Given the description of an element on the screen output the (x, y) to click on. 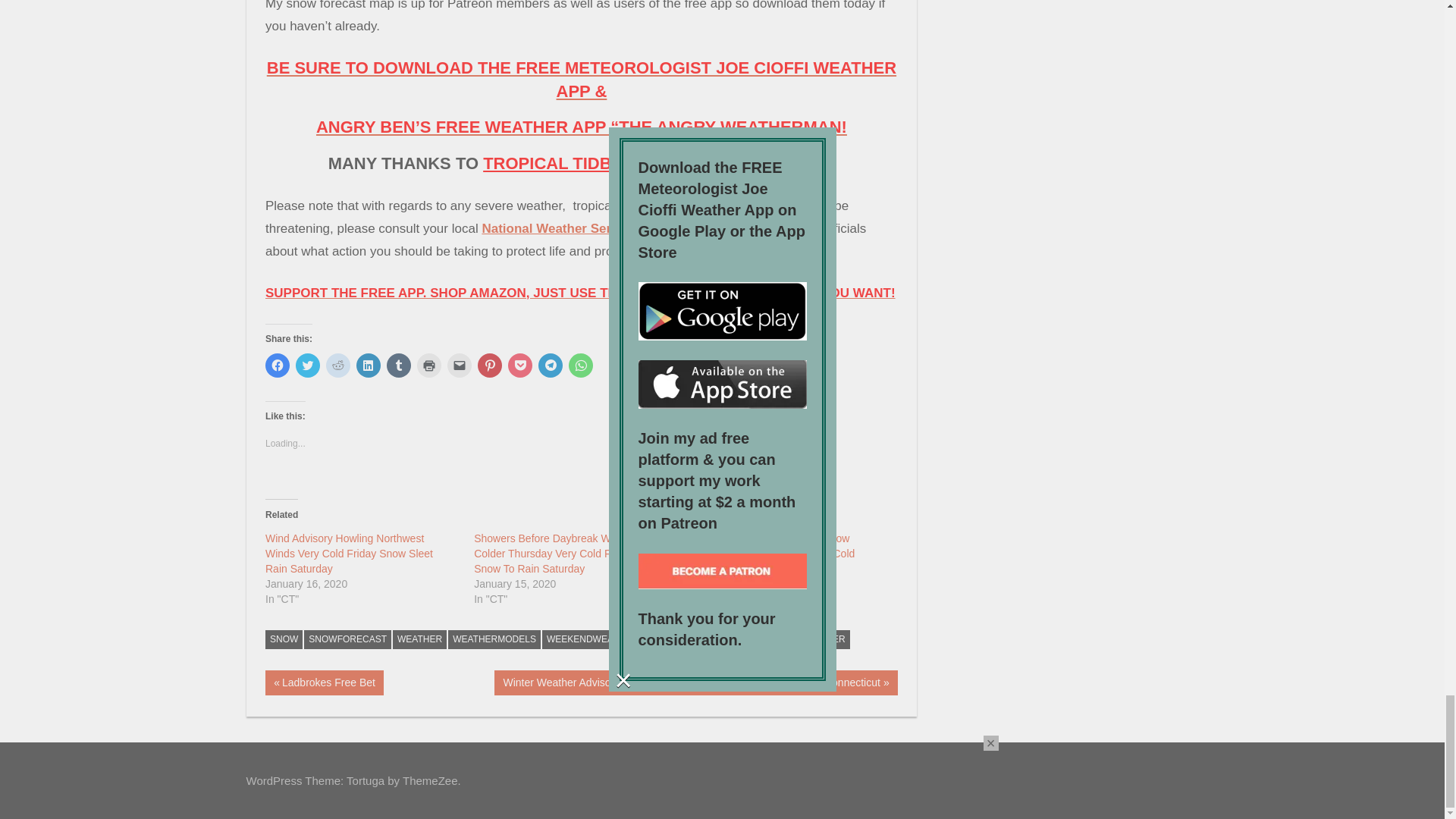
Click to share on Pinterest (489, 364)
Click to print (428, 364)
Click to share on Reddit (338, 364)
Click to share on Tumblr (398, 364)
Click to email a link to a friend (458, 364)
Click to share on LinkedIn (368, 364)
Click to share on Facebook (276, 364)
Click to share on Twitter (307, 364)
